Given the description of an element on the screen output the (x, y) to click on. 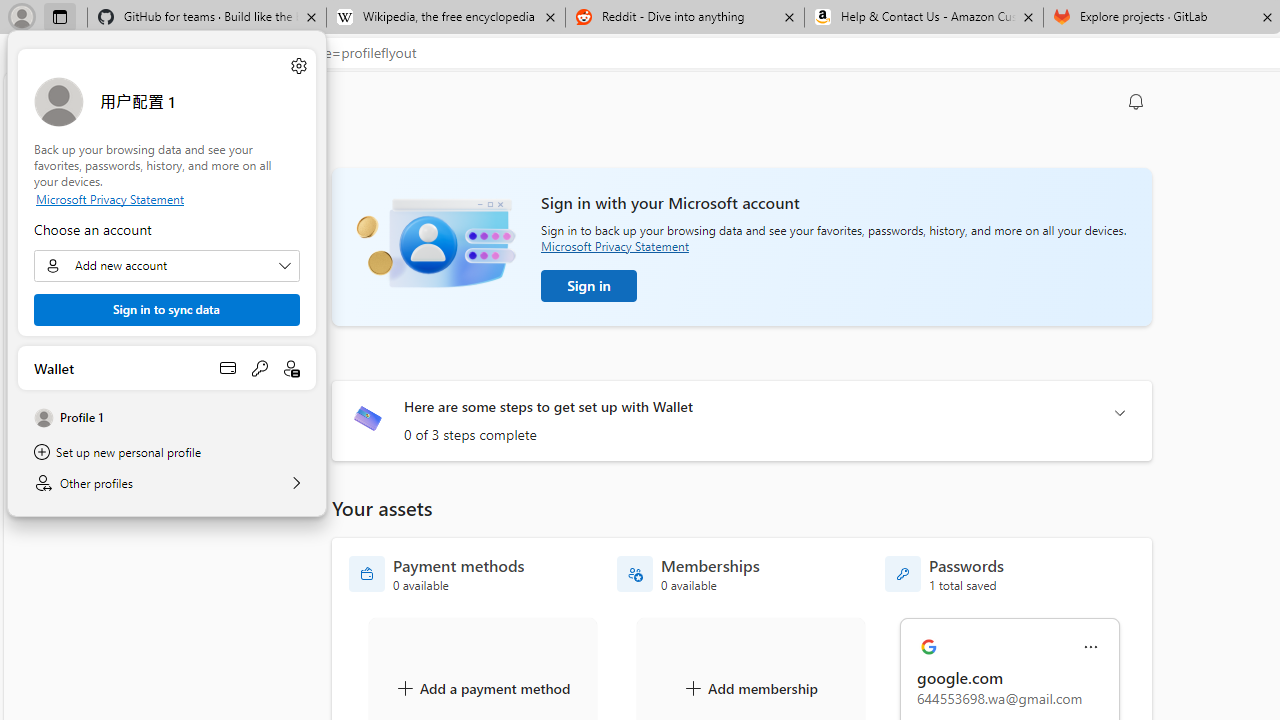
Open payment methods (228, 367)
Sign in to sync data (166, 309)
Microsoft Privacy Statement (166, 198)
Open personal info (292, 367)
